Given the description of an element on the screen output the (x, y) to click on. 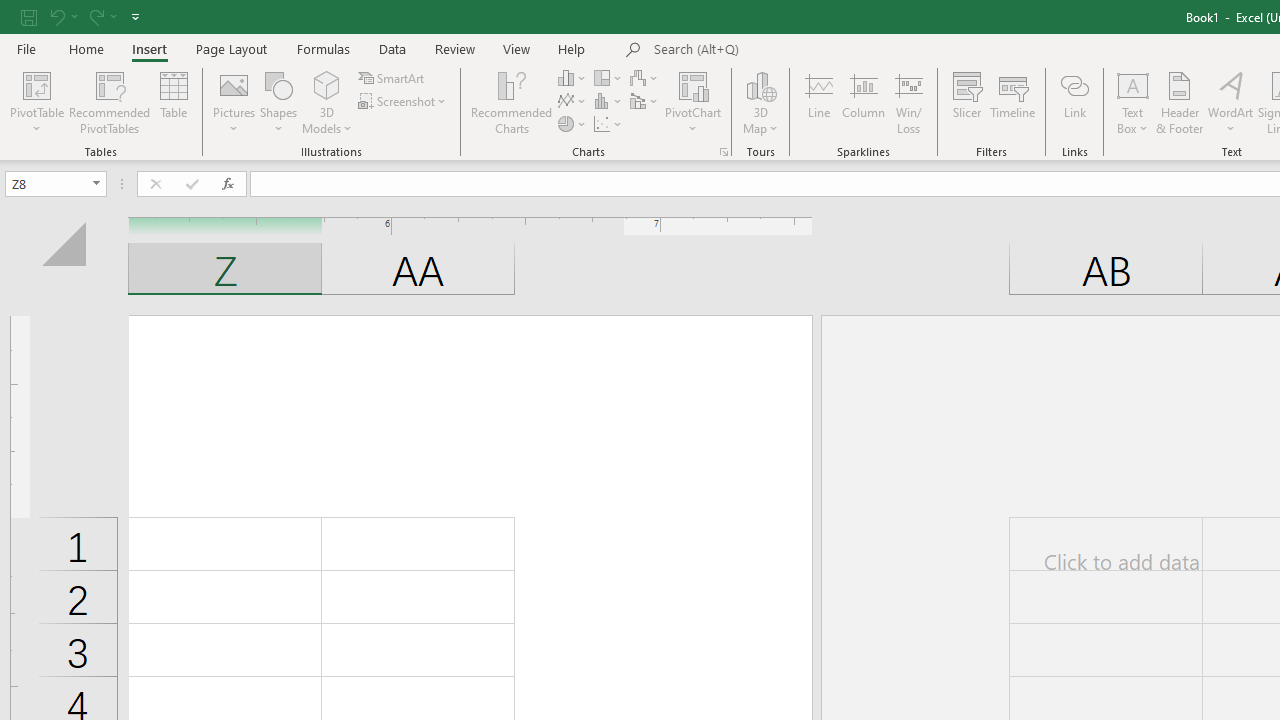
SmartArt... (392, 78)
Timeline (1013, 102)
PivotTable (36, 84)
3D Models (326, 84)
PivotChart (693, 102)
Insert Hierarchy Chart (609, 78)
Pictures (234, 102)
Insert Pie or Doughnut Chart (573, 124)
Text Box (1133, 102)
